Given the description of an element on the screen output the (x, y) to click on. 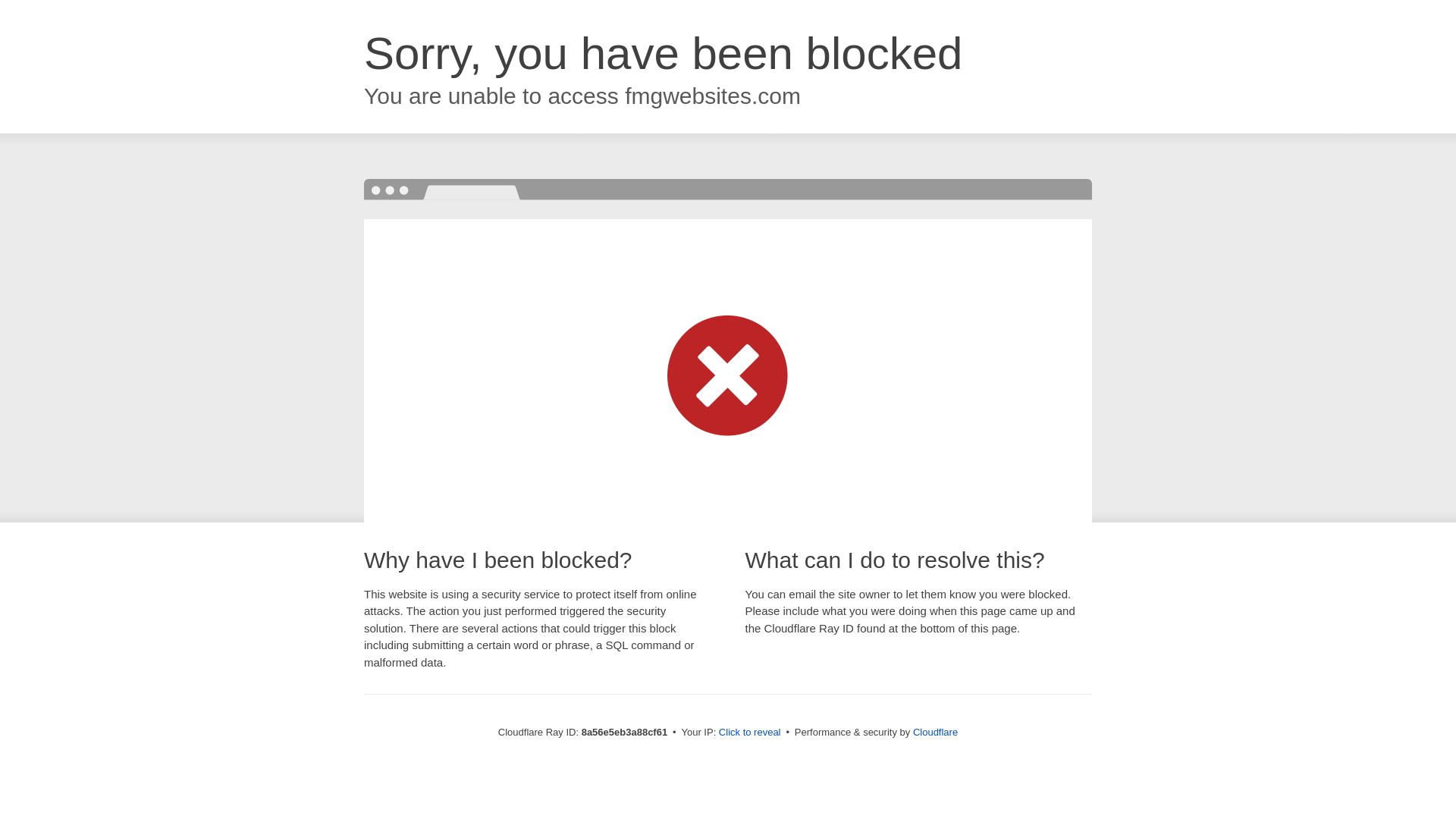
Cloudflare (935, 731)
Click to reveal (749, 732)
